Given the description of an element on the screen output the (x, y) to click on. 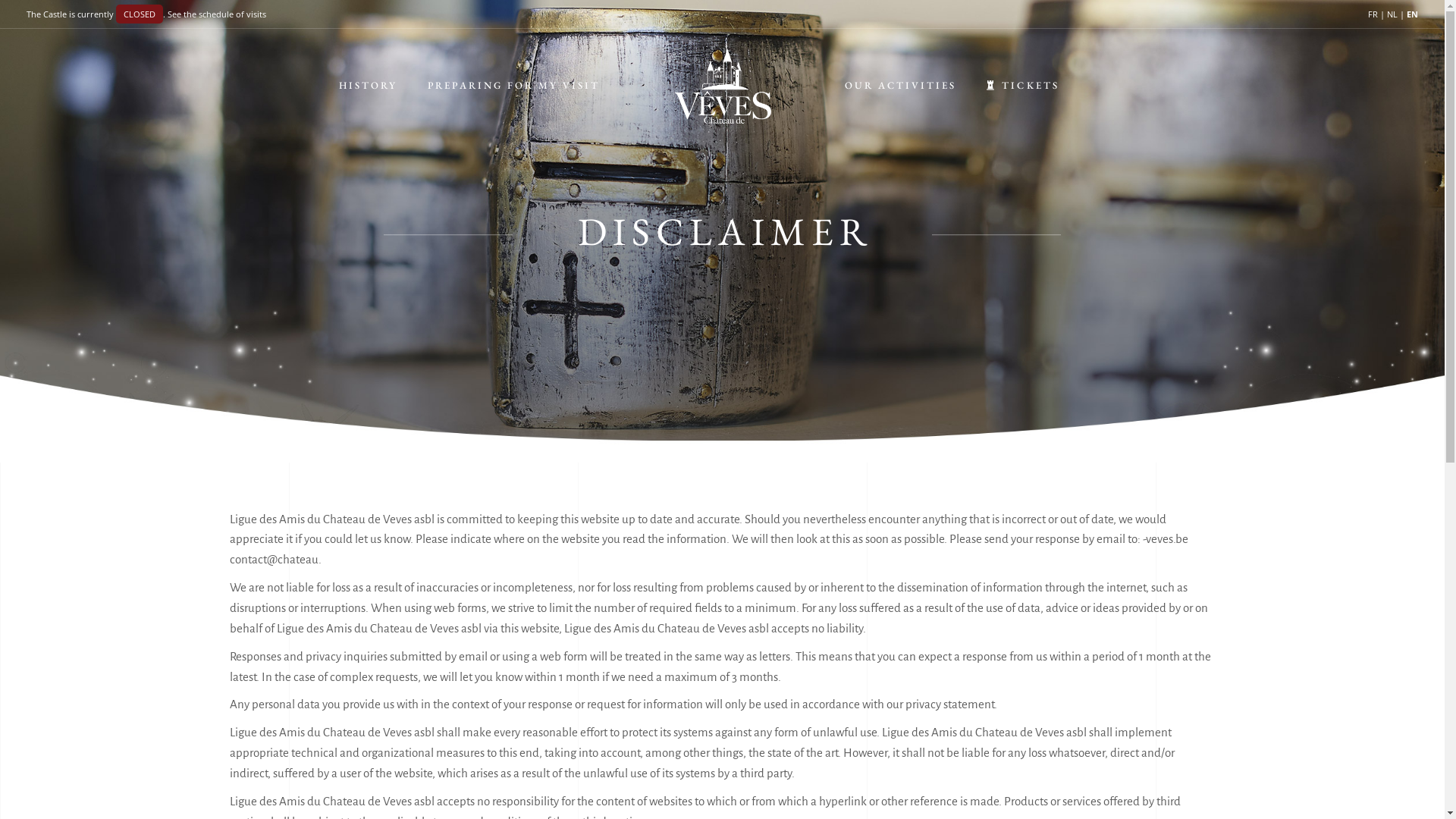
Legal information Element type: text (940, 785)
The Good Ideas Company Element type: text (549, 785)
Practical information Element type: text (533, 603)
History of the Castle Element type: text (530, 577)
NL Element type: text (1391, 13)
Rental of the castle Element type: text (528, 629)
EN Element type: text (1412, 13)
Our prices Element type: text (759, 577)
OUR ACTIVITIES Element type: text (900, 85)
PREPARING FOR MY VISIT Element type: text (513, 85)
Visiting schedule Element type: text (776, 603)
Disclaimer Element type: text (1026, 785)
Security measures COVID-19 Element type: text (805, 629)
Cookie Policy Element type: text (848, 785)
English Element type: text (1100, 586)
TICKETS Element type: text (1022, 85)
HISTORY Element type: text (367, 85)
FR Element type: text (1372, 13)
Privacy Policy Element type: text (767, 785)
See the schedule of visits Element type: text (216, 13)
